Given the description of an element on the screen output the (x, y) to click on. 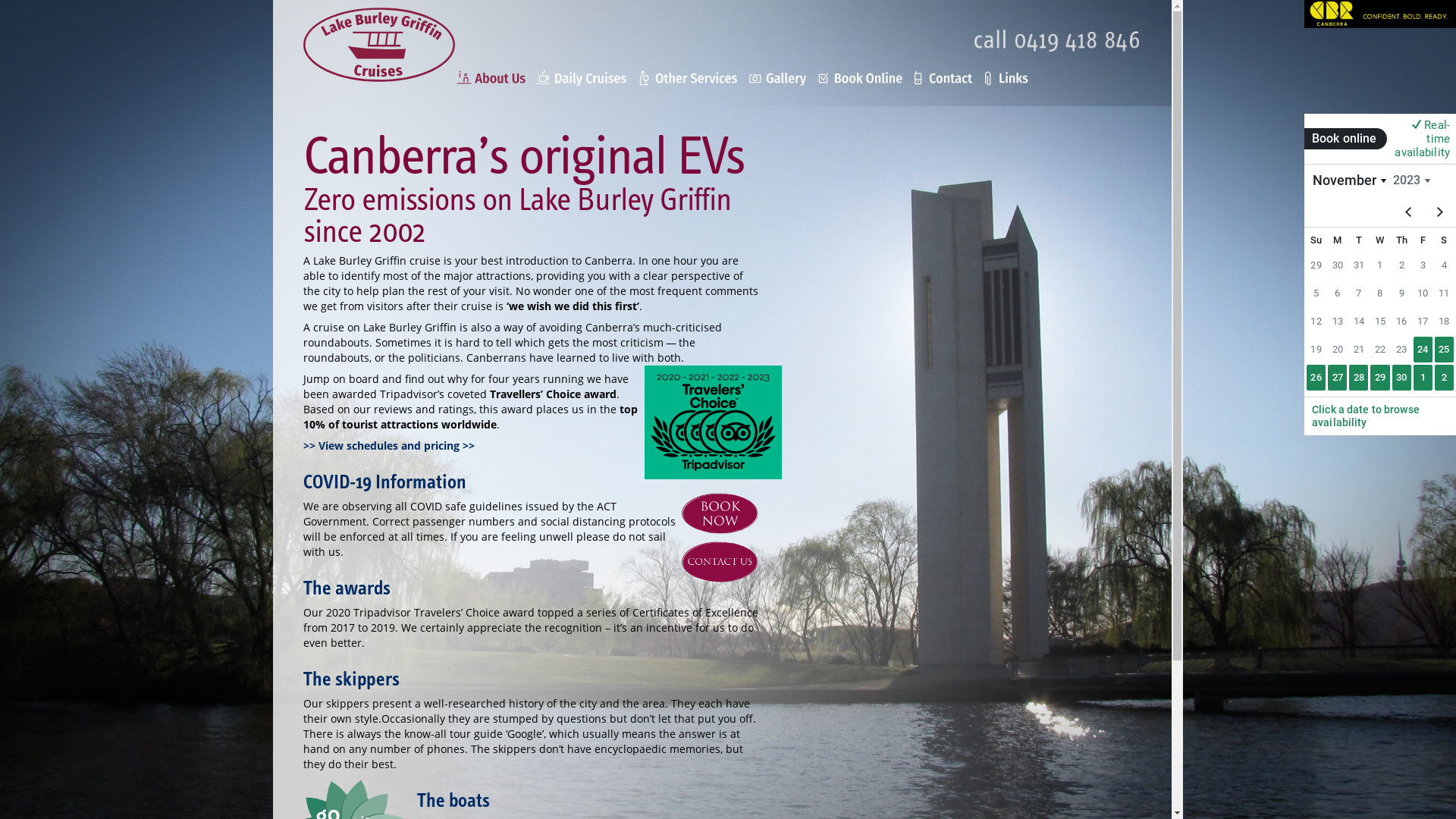
>> View schedules and pricing >> Element type: text (388, 445)
Tweets by @Canberracruises Element type: text (1379, 386)
